Given the description of an element on the screen output the (x, y) to click on. 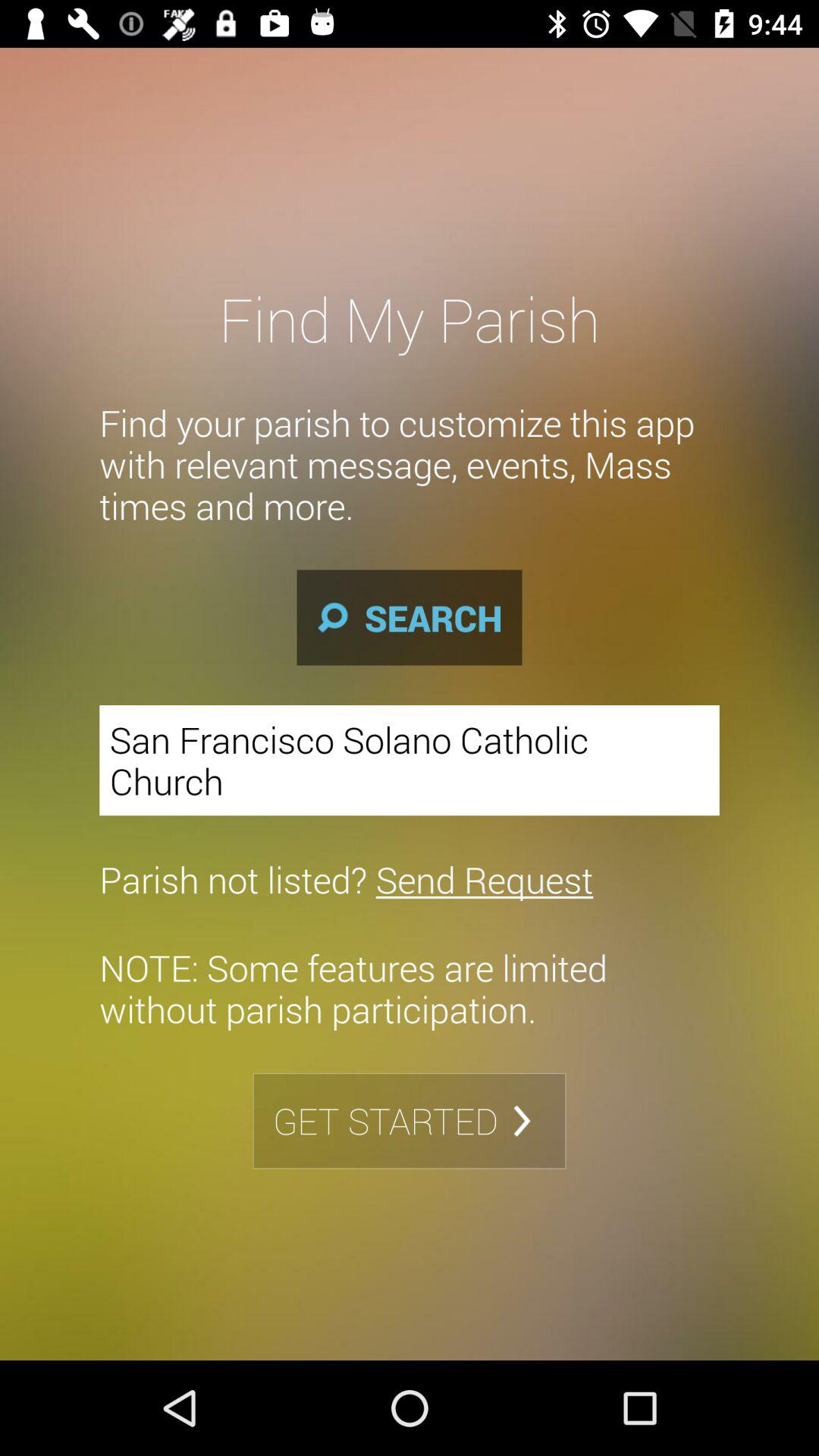
tap get started item (409, 1120)
